Given the description of an element on the screen output the (x, y) to click on. 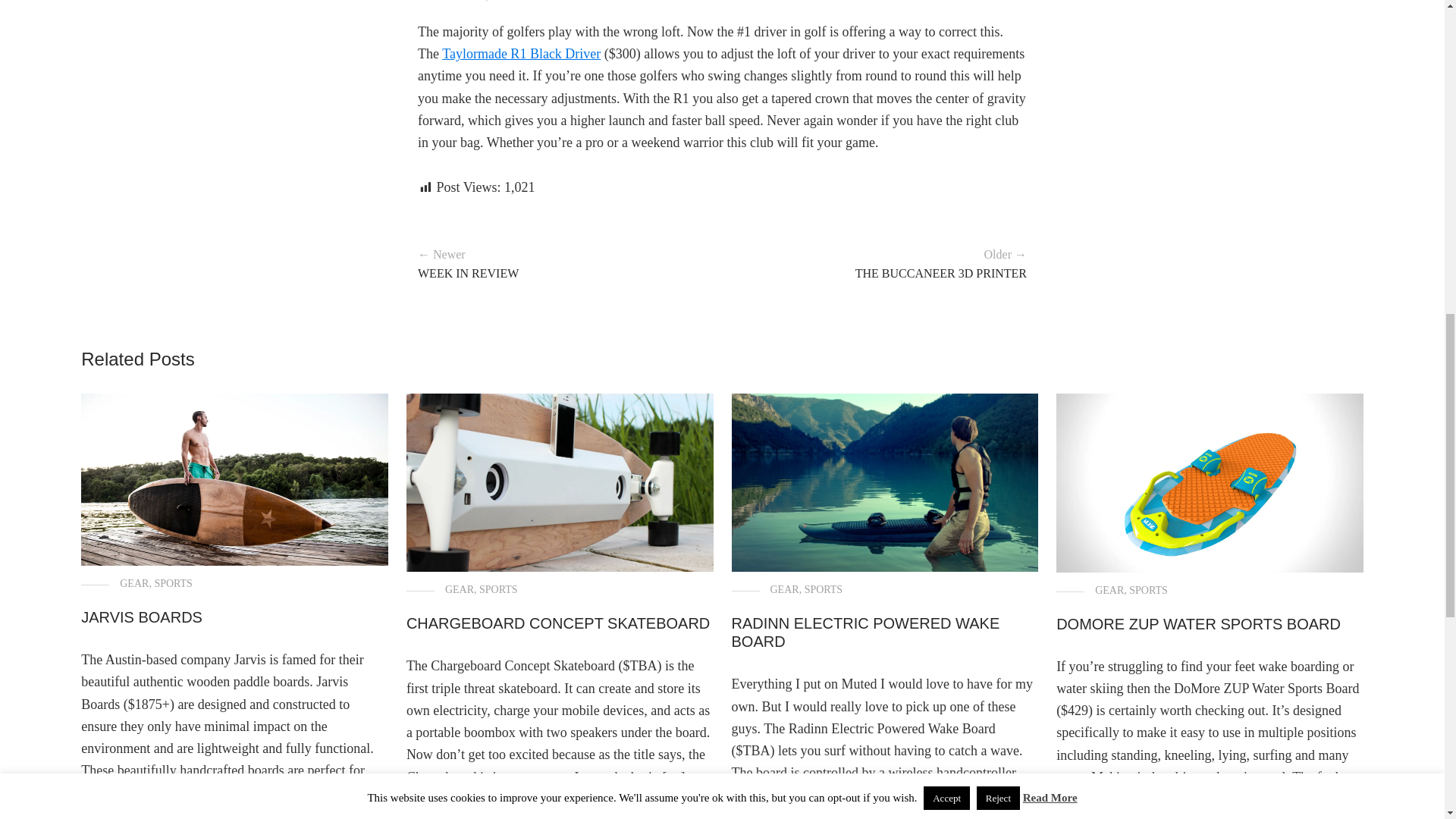
SPORTS (498, 589)
SPORTS (509, 1)
SPORTS (1148, 590)
SPORTS (173, 583)
GEAR (1109, 590)
GEAR (459, 589)
JARVIS BOARDS (141, 617)
RADINN ELECTRIC POWERED WAKE BOARD (864, 632)
GEAR (470, 1)
Taylormade R1 Black Driver (520, 53)
CHARGEBOARD CONCEPT SKATEBOARD (558, 623)
SPORTS (824, 589)
GEAR (784, 589)
DOMORE ZUP WATER SPORTS BOARD (1198, 623)
GEAR (133, 583)
